Given the description of an element on the screen output the (x, y) to click on. 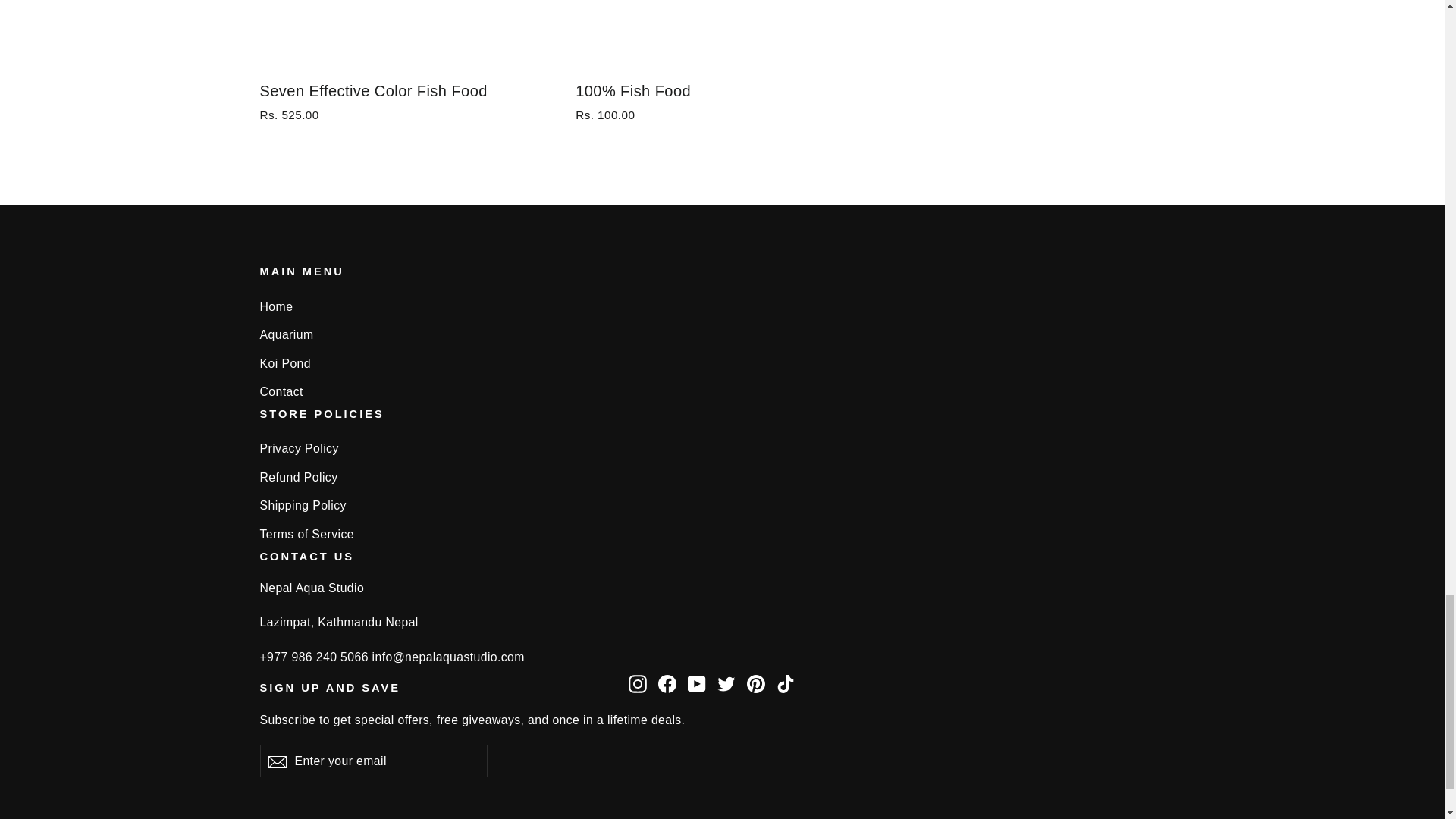
instagram (637, 683)
Nepal Aqua Studio  on Twitter (726, 683)
Nepal Aqua Studio  on Instagram (637, 683)
icon-email (276, 761)
twitter (726, 683)
Nepal Aqua Studio  on TikTok (785, 683)
Nepal Aqua Studio  on Facebook (667, 683)
Nepal Aqua Studio  on Pinterest (755, 683)
Nepal Aqua Studio  on YouTube (696, 683)
